Given the description of an element on the screen output the (x, y) to click on. 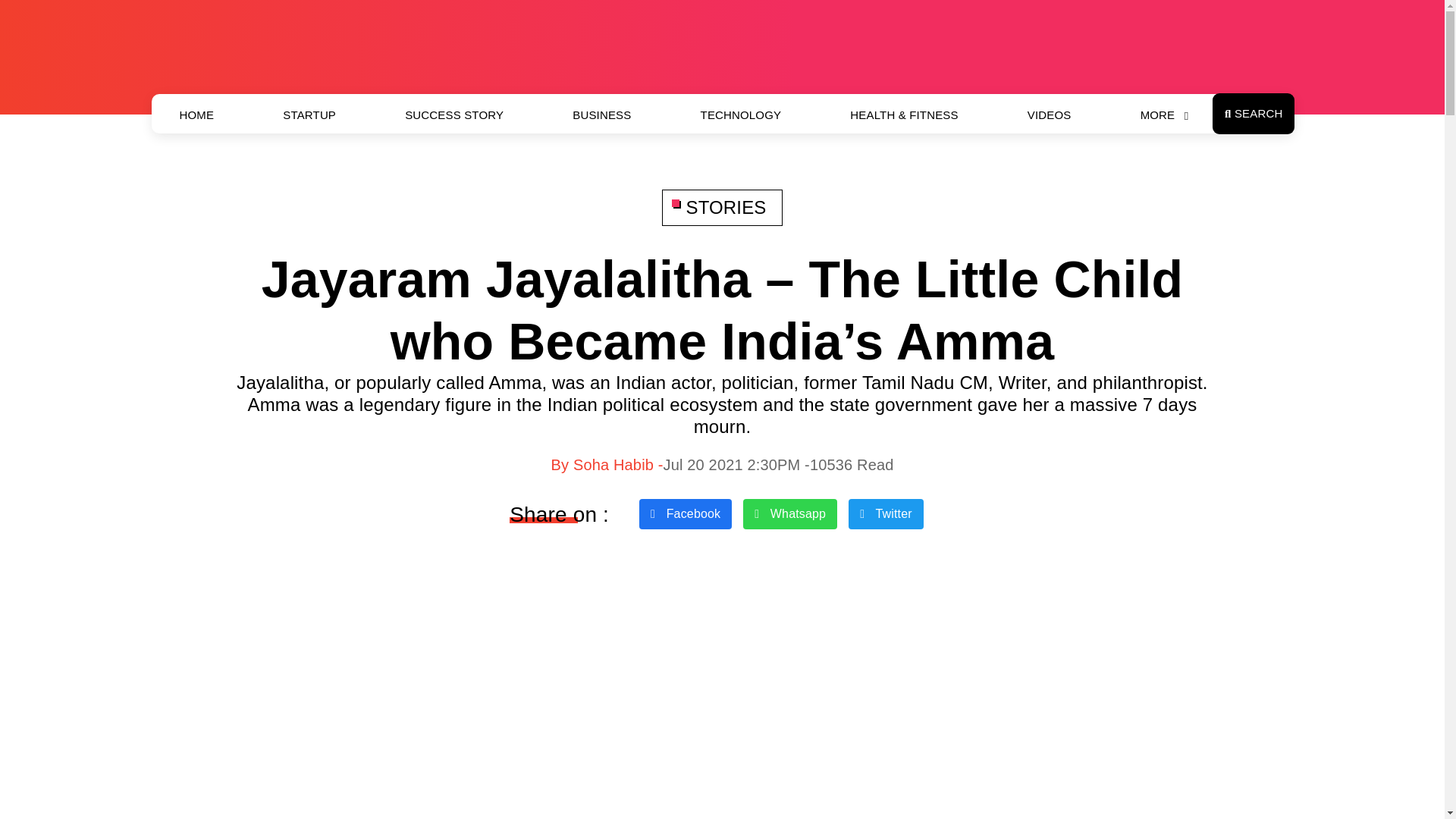
Home (196, 115)
HOME (196, 115)
VIDEOS (1049, 115)
MORE (1157, 115)
Share on Twitter (885, 513)
Success Story (454, 115)
STORIES (721, 207)
SEARCH (1253, 114)
Whatsapp (789, 513)
Stories (721, 207)
Videos (1049, 115)
Share on Whatsapp (789, 513)
Twitter (885, 513)
STARTUP (308, 115)
More (1157, 115)
